Given the description of an element on the screen output the (x, y) to click on. 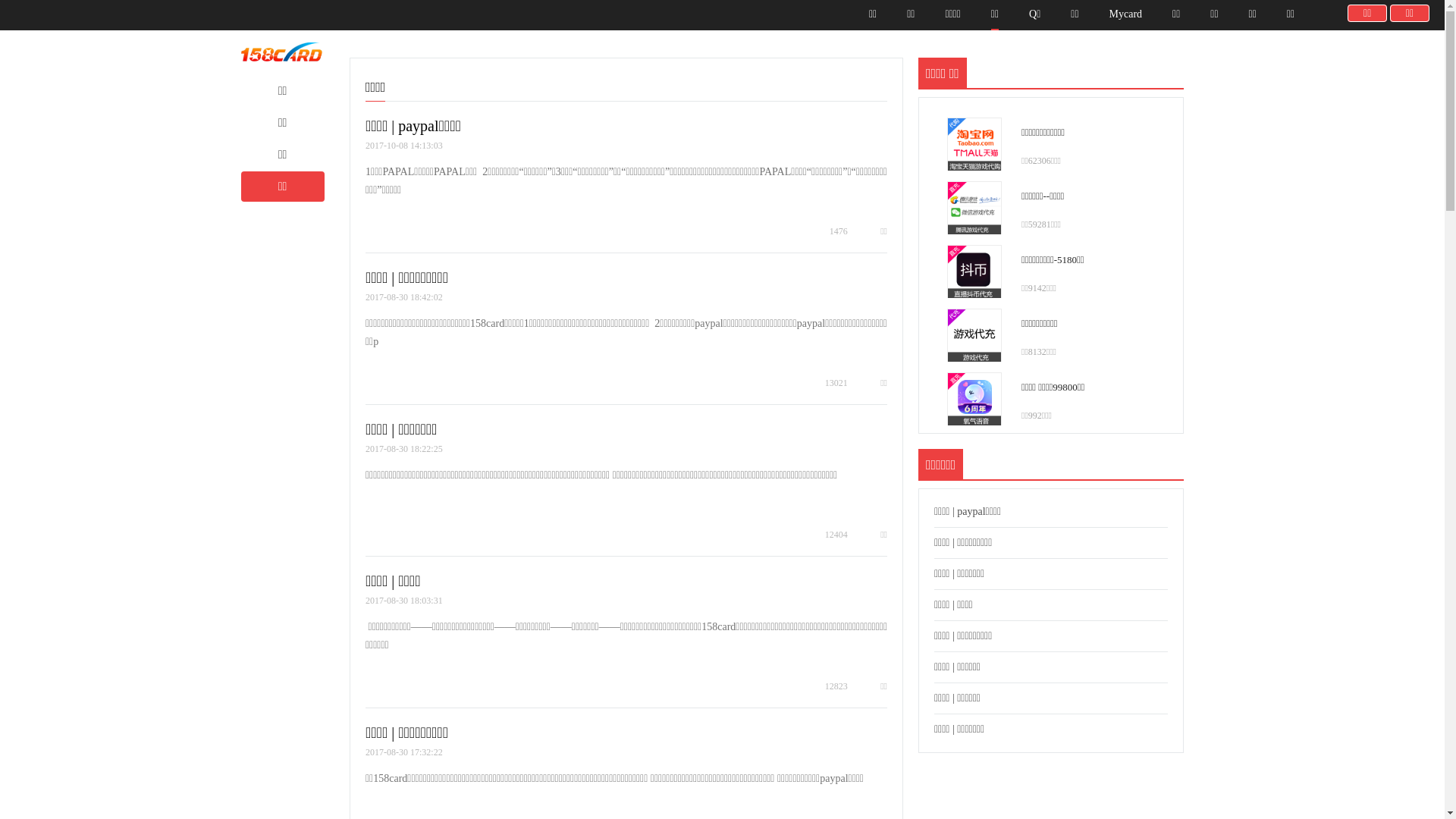
1476 Element type: text (830, 230)
13021 Element type: text (828, 382)
12823 Element type: text (828, 685)
Mycard Element type: text (1125, 14)
12404 Element type: text (828, 534)
